Given the description of an element on the screen output the (x, y) to click on. 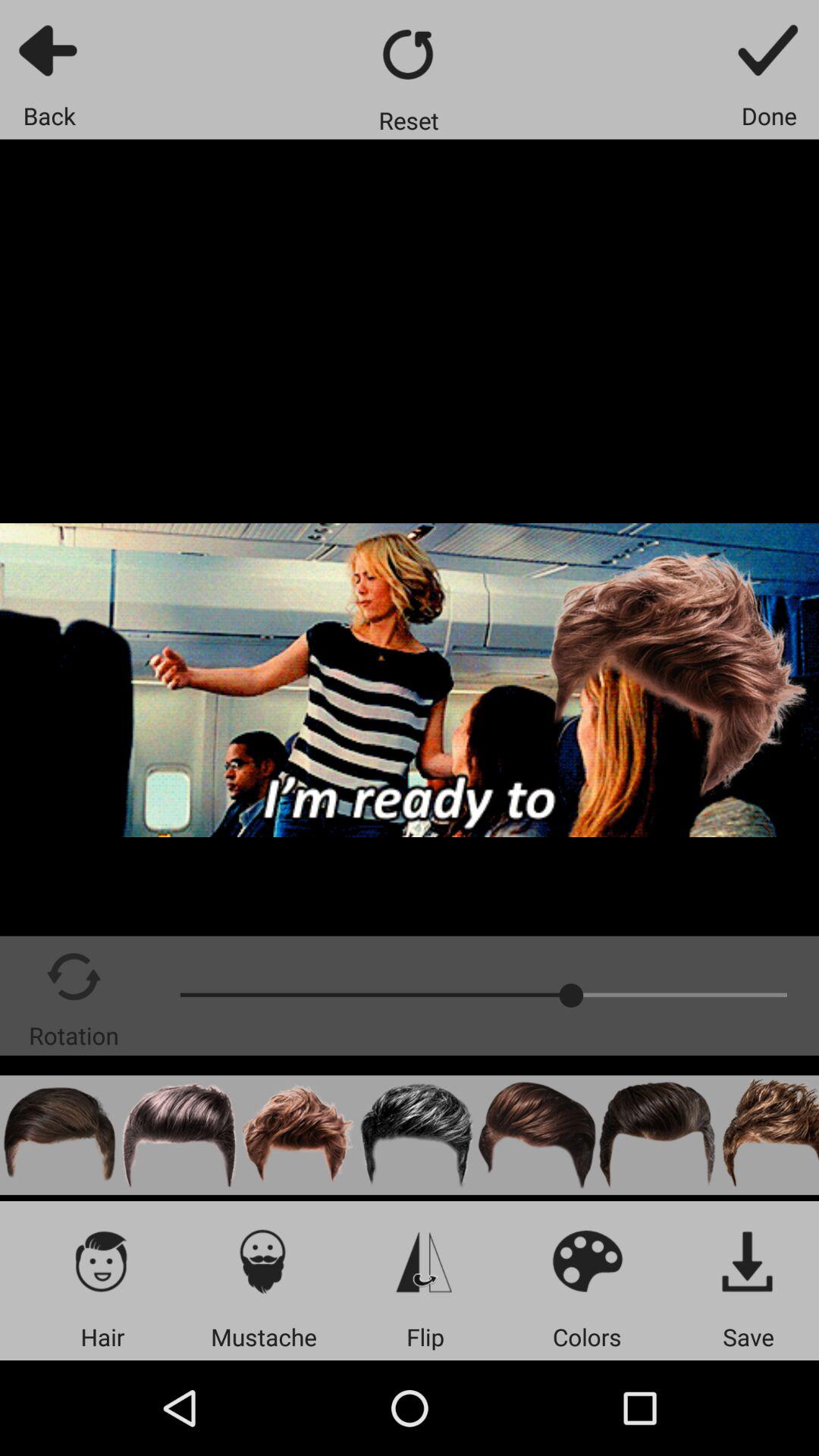
select hairstyle (767, 1134)
